Given the description of an element on the screen output the (x, y) to click on. 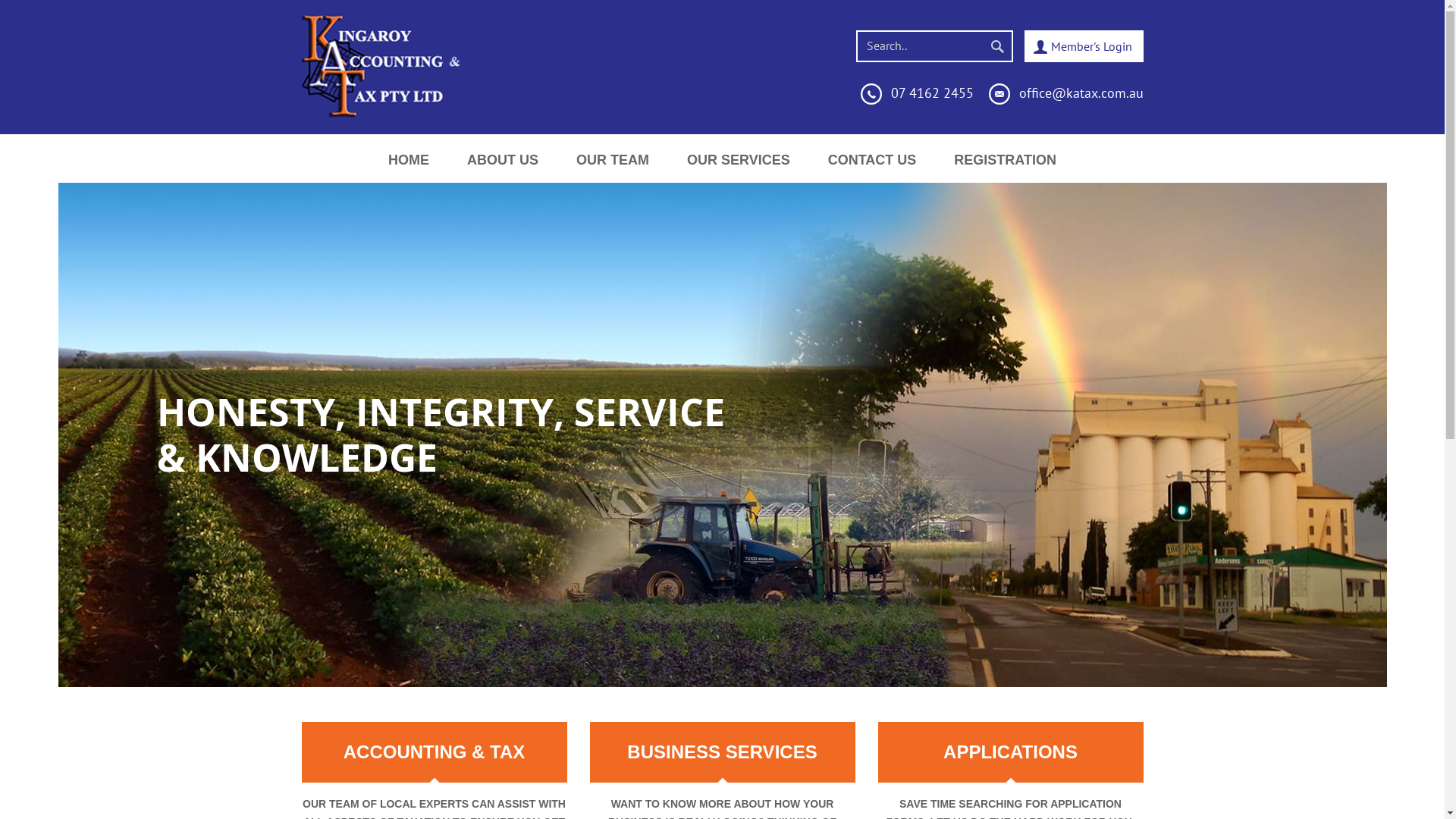
OUR TEAM Element type: text (612, 158)
ABOUT US Element type: text (502, 158)
HOME Element type: text (408, 158)
ACCOUNTING & TAX Element type: text (434, 751)
OUR SERVICES Element type: text (738, 158)
S Element type: text (902, 803)
REGISTRATION Element type: text (1005, 158)
07 4162 2455 Element type: text (931, 92)
HONESTY, INTEGRITY, SERVICE & KNOWLEDGE Element type: text (721, 434)
CONTACT US Element type: text (872, 158)
BUSINESS SERVICES Element type: text (722, 751)
APPLICATIONS Element type: text (1010, 751)
Member's Login Element type: text (1080, 46)
office@katax.com.au Element type: text (1081, 92)
